Given the description of an element on the screen output the (x, y) to click on. 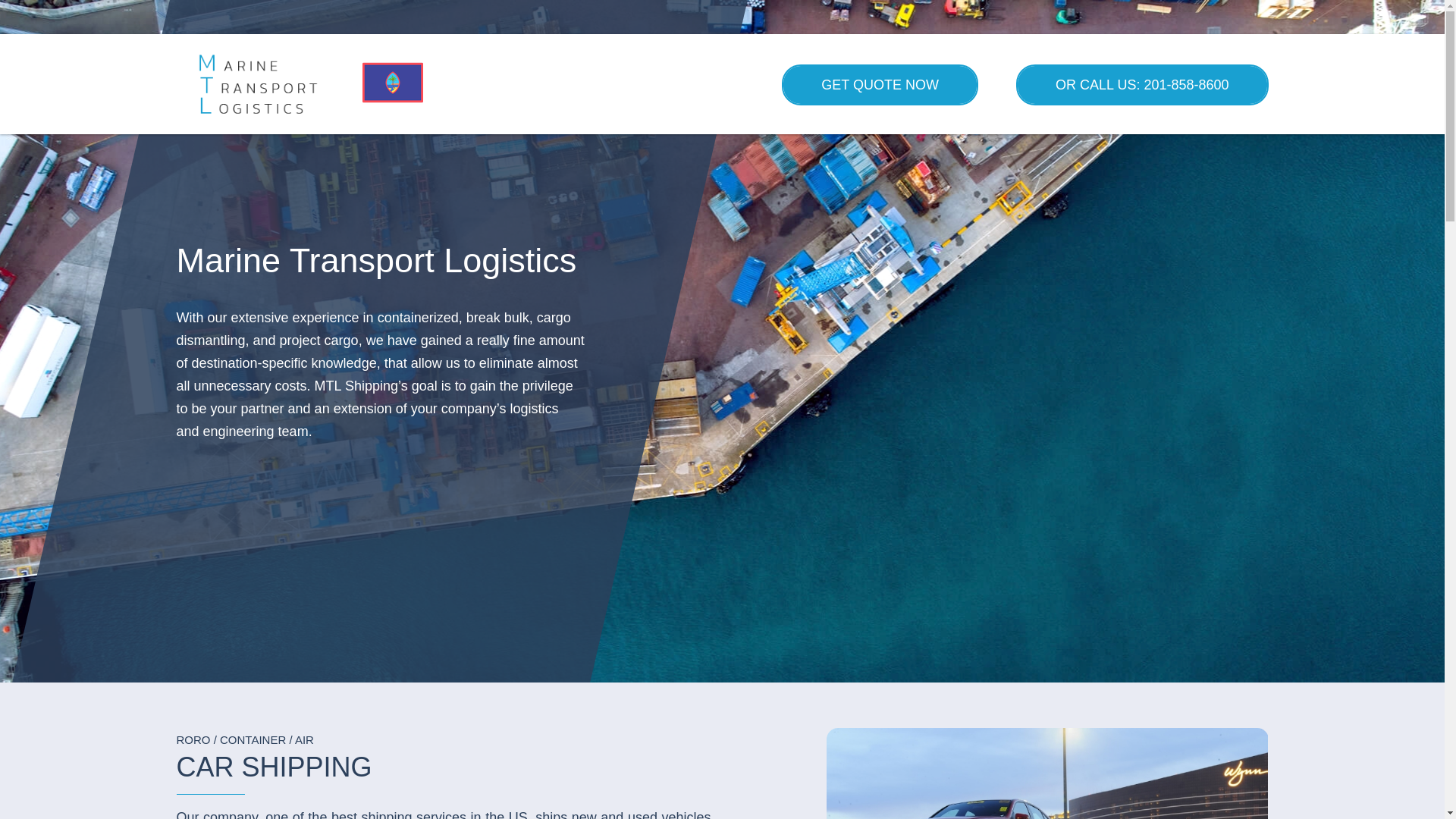
GET QUOTE NOW (879, 84)
Contact our sales manager by phone (1142, 84)
Fast quote request right now (879, 84)
OR CALL US: 201-858-8600 (1142, 84)
